Given the description of an element on the screen output the (x, y) to click on. 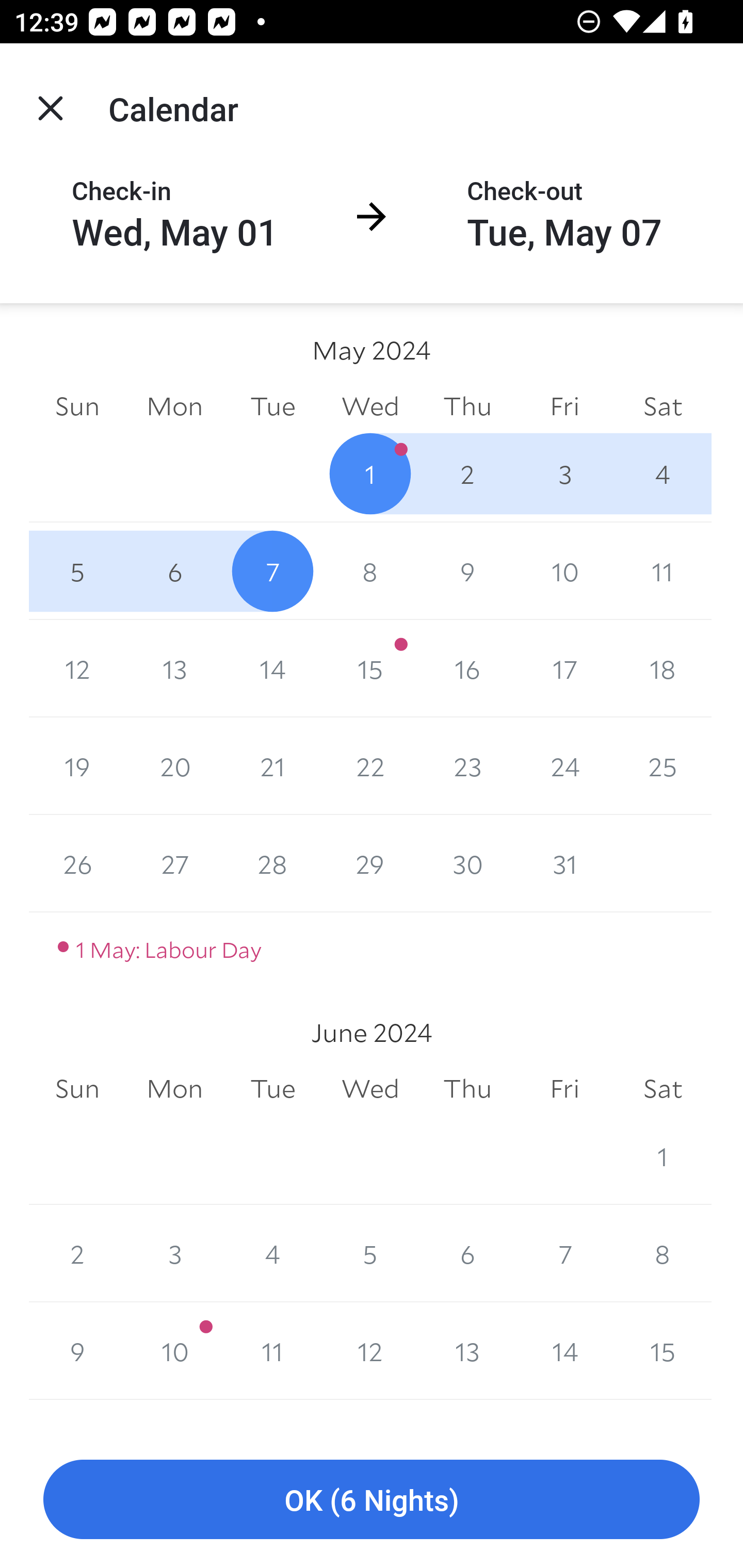
Sun (77, 405)
Mon (174, 405)
Tue (272, 405)
Wed (370, 405)
Thu (467, 405)
Fri (564, 405)
Sat (662, 405)
1 1 May 2024 (370, 473)
2 2 May 2024 (467, 473)
3 3 May 2024 (564, 473)
4 4 May 2024 (662, 473)
5 5 May 2024 (77, 570)
6 6 May 2024 (174, 570)
7 7 May 2024 (272, 570)
8 8 May 2024 (370, 570)
9 9 May 2024 (467, 570)
10 10 May 2024 (564, 570)
11 11 May 2024 (662, 570)
12 12 May 2024 (77, 668)
13 13 May 2024 (174, 668)
14 14 May 2024 (272, 668)
15 15 May 2024 (370, 668)
16 16 May 2024 (467, 668)
17 17 May 2024 (564, 668)
18 18 May 2024 (662, 668)
19 19 May 2024 (77, 766)
20 20 May 2024 (174, 766)
21 21 May 2024 (272, 766)
22 22 May 2024 (370, 766)
23 23 May 2024 (467, 766)
24 24 May 2024 (564, 766)
25 25 May 2024 (662, 766)
26 26 May 2024 (77, 863)
27 27 May 2024 (174, 863)
28 28 May 2024 (272, 863)
29 29 May 2024 (370, 863)
30 30 May 2024 (467, 863)
31 31 May 2024 (564, 863)
Sun (77, 1088)
Mon (174, 1088)
Tue (272, 1088)
Wed (370, 1088)
Thu (467, 1088)
Fri (564, 1088)
Sat (662, 1088)
1 1 June 2024 (662, 1155)
2 2 June 2024 (77, 1253)
3 3 June 2024 (174, 1253)
4 4 June 2024 (272, 1253)
5 5 June 2024 (370, 1253)
6 6 June 2024 (467, 1253)
7 7 June 2024 (564, 1253)
8 8 June 2024 (662, 1253)
9 9 June 2024 (77, 1351)
10 10 June 2024 (174, 1351)
11 11 June 2024 (272, 1351)
12 12 June 2024 (370, 1351)
13 13 June 2024 (467, 1351)
14 14 June 2024 (564, 1351)
15 15 June 2024 (662, 1351)
OK (6 Nights) (371, 1499)
